Given the description of an element on the screen output the (x, y) to click on. 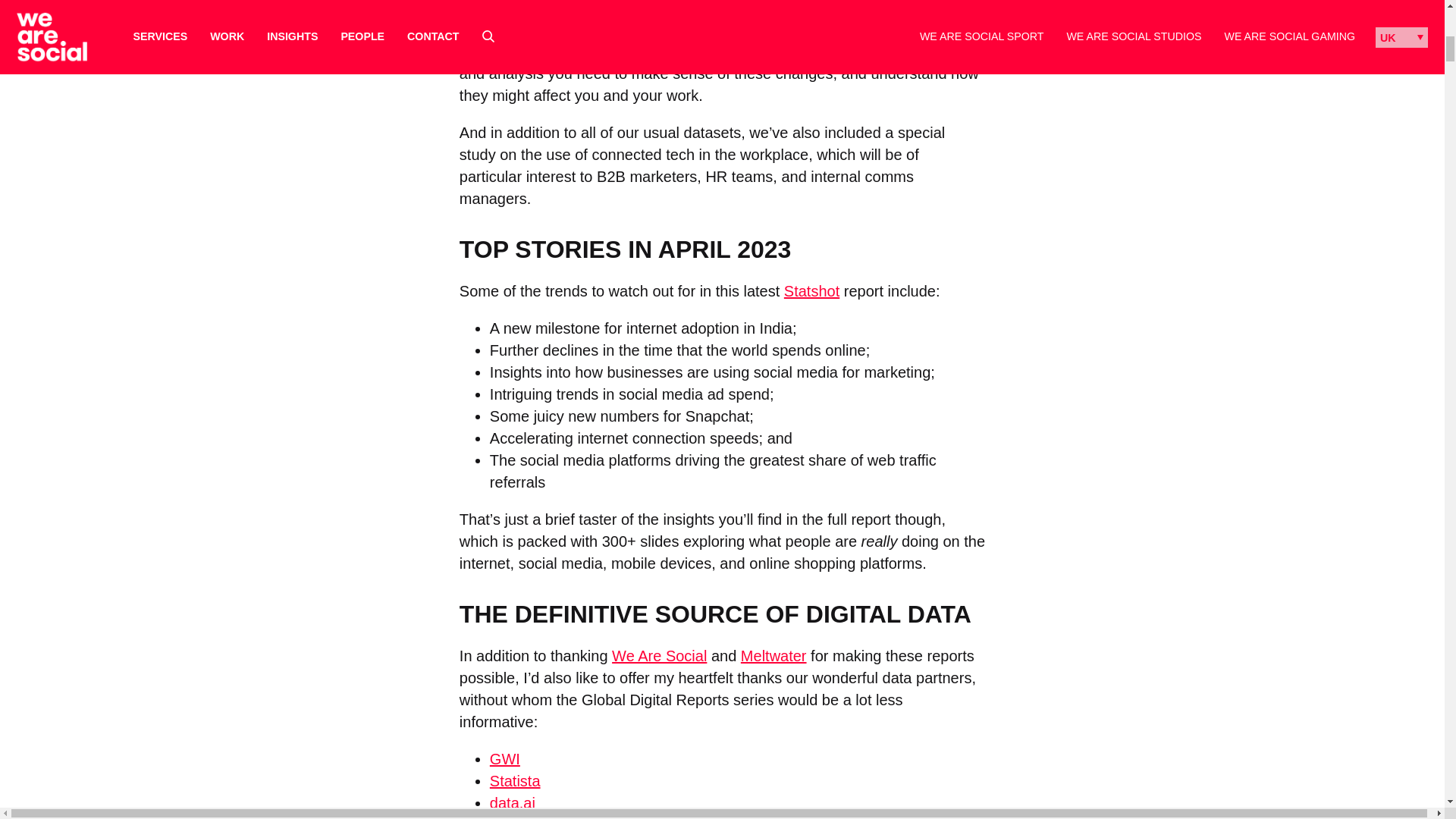
data.ai (512, 802)
Statshot (812, 290)
Meltwater (773, 655)
We Are Social (658, 655)
We Are Social (717, 51)
Statista (514, 781)
Semrush (519, 817)
Meltwater (603, 51)
GWI (504, 759)
